Given the description of an element on the screen output the (x, y) to click on. 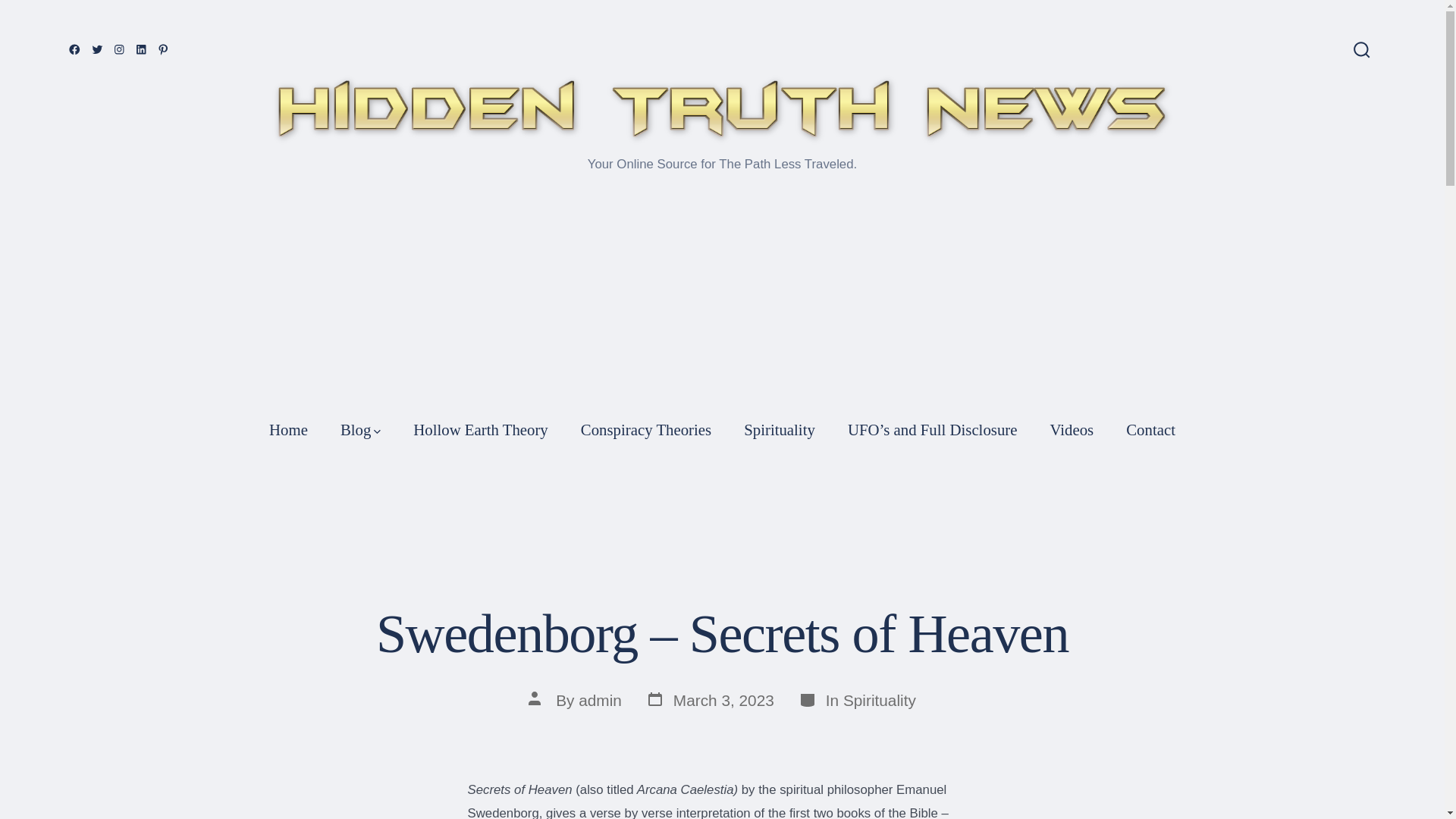
Open Instagram in a new tab (119, 49)
Hollow Earth Theory (480, 429)
Open LinkedIn in a new tab (141, 49)
Blog (360, 429)
Spirituality (779, 429)
Open Pinterest in a new tab (163, 49)
Open Facebook in a new tab (74, 49)
Spirituality (879, 700)
Search Toggle (710, 700)
Videos (1360, 50)
Home (1071, 429)
Open Twitter in a new tab (288, 429)
admin (96, 49)
